Given the description of an element on the screen output the (x, y) to click on. 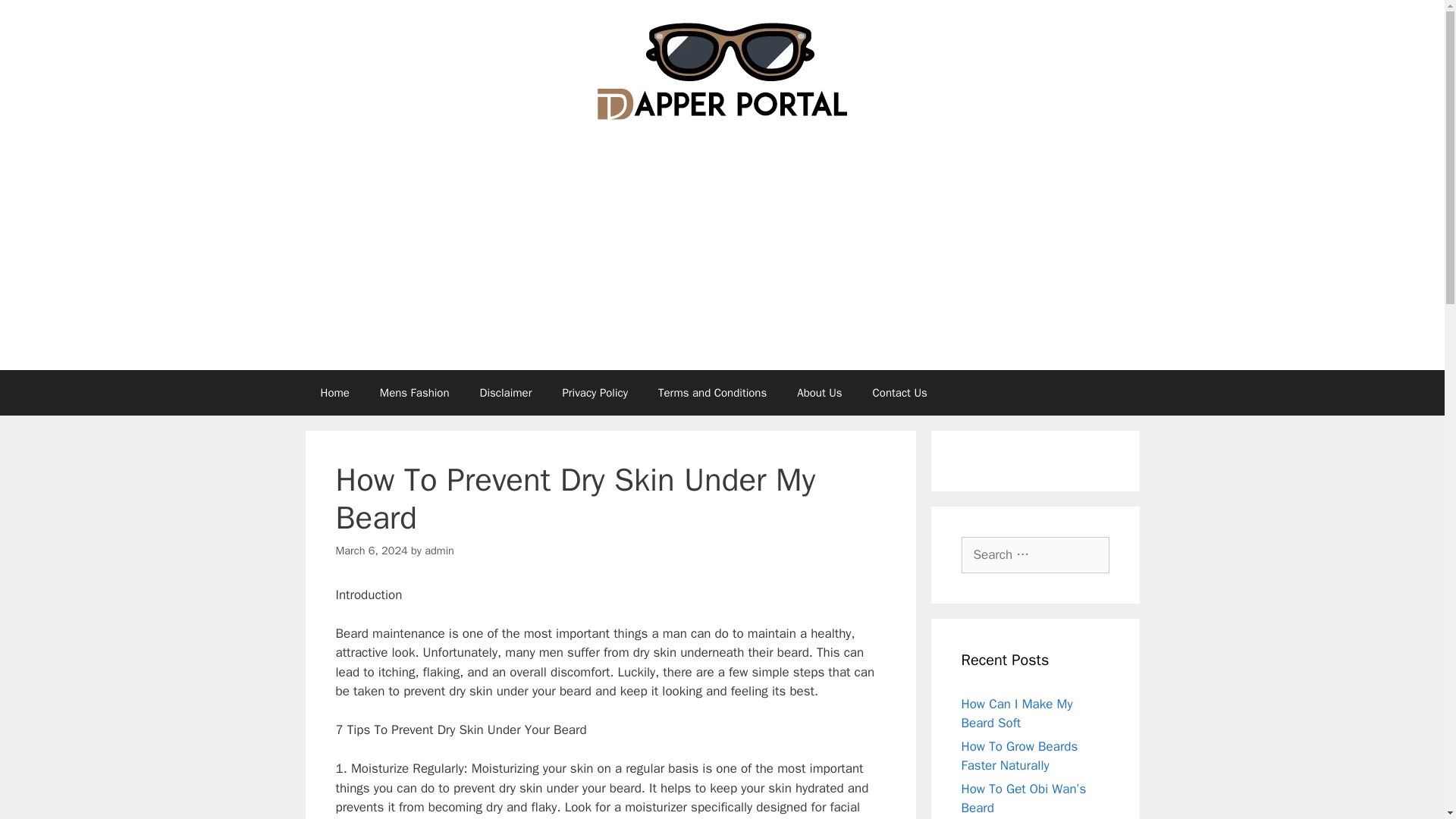
Contact Us (899, 392)
Terms and Conditions (712, 392)
How To Grow Beards Faster Naturally (1019, 755)
View all posts by admin (439, 550)
How Can I Make My Beard Soft (1016, 714)
admin (439, 550)
About Us (819, 392)
Disclaimer (505, 392)
Search for: (1034, 555)
